Given the description of an element on the screen output the (x, y) to click on. 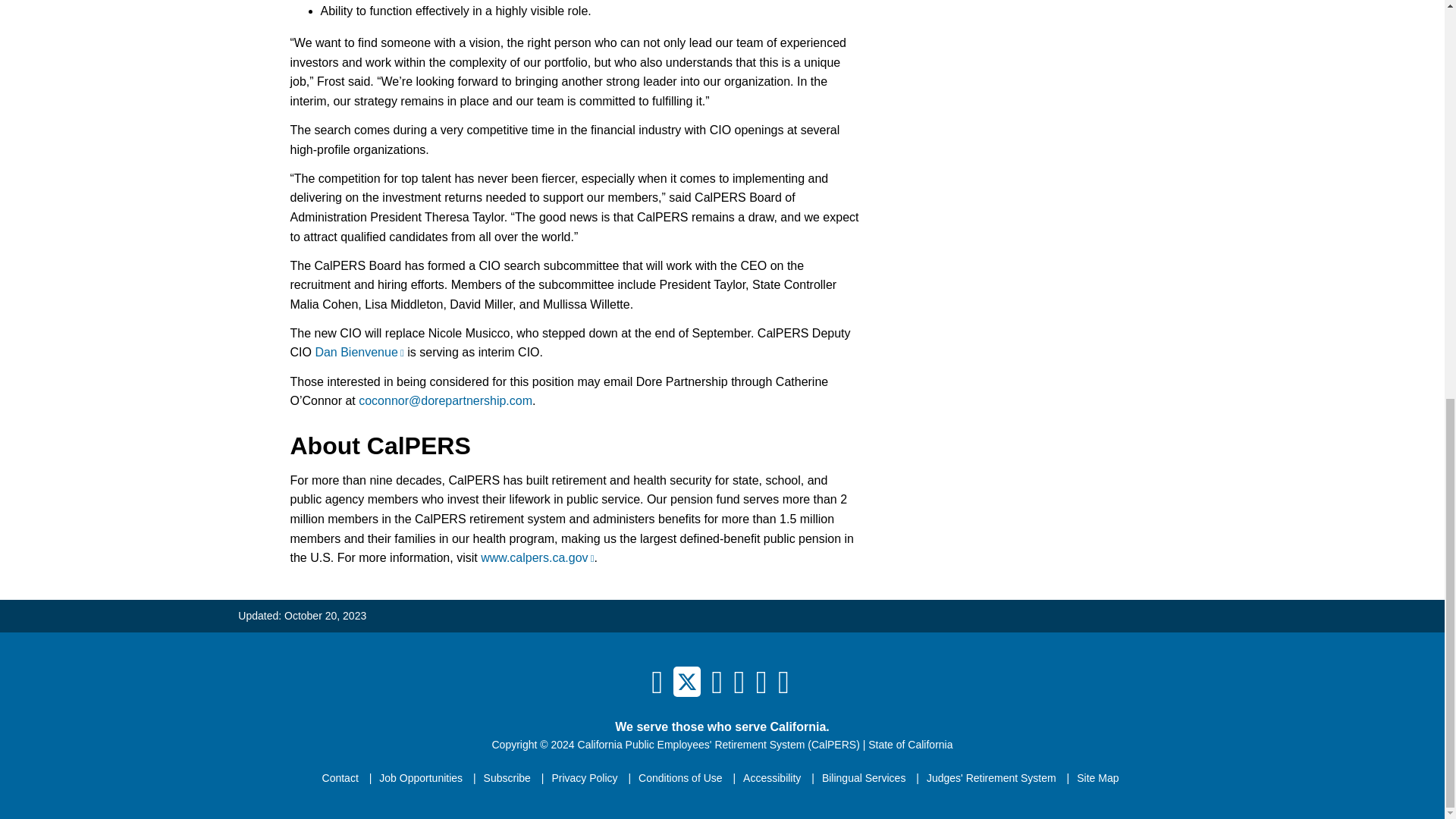
Subscribe to CalPERS newsletters and alerts. (507, 777)
Opens in a new window (909, 744)
Request assistance from CalPERS Bilingual Services. (863, 777)
Sitemap - See a list of all pages on the CalPERS website. (1097, 777)
Learn more about the CalPERS Judges' Retirement System. (991, 777)
Contact CalPERS. (339, 777)
Opens in a new window (686, 680)
opens in new window (445, 400)
Explore Job Opportunities at CalPERS. (420, 777)
